Given the description of an element on the screen output the (x, y) to click on. 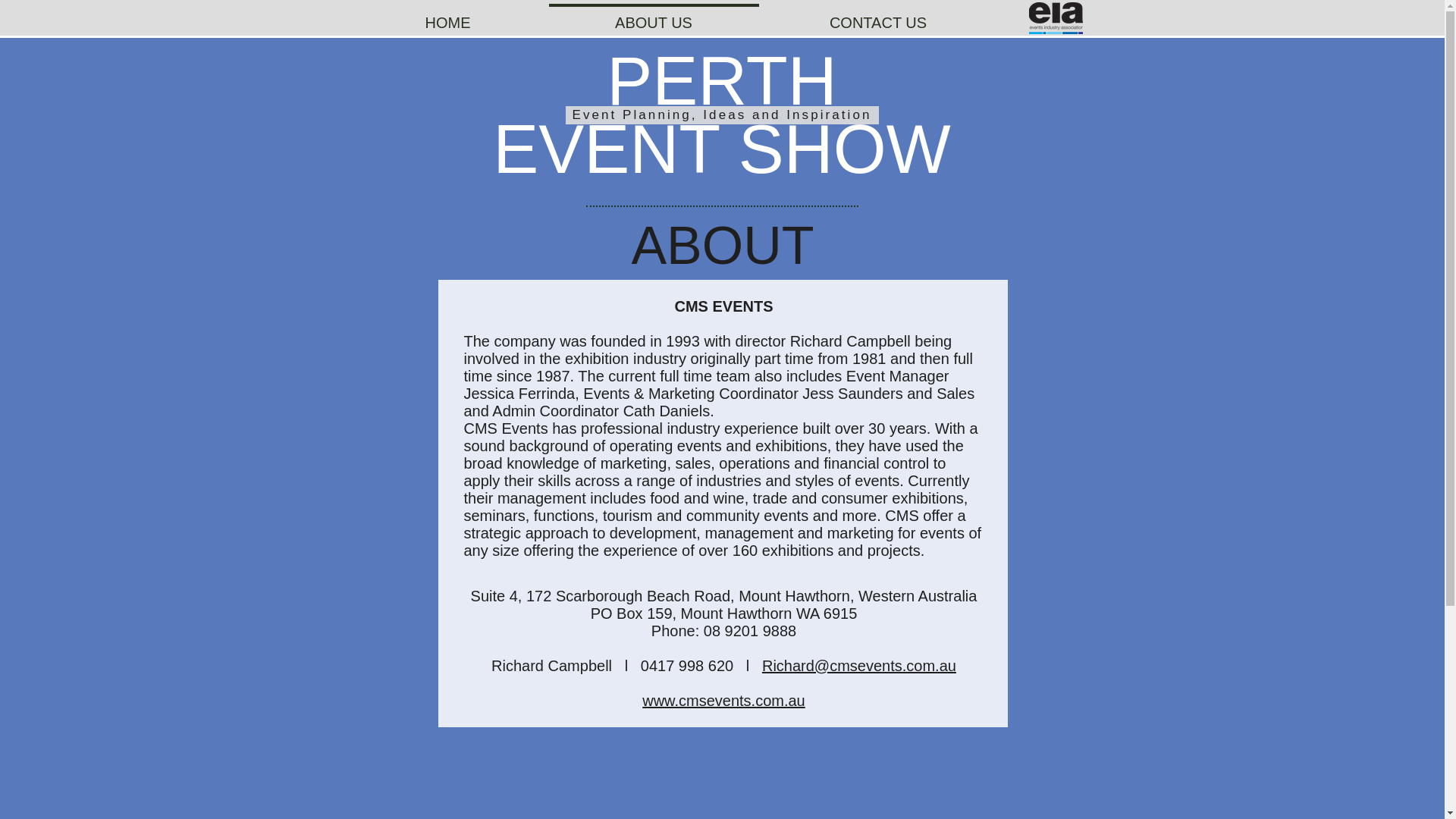
www.cmsevents.com.au (723, 700)
CONTACT US (878, 16)
ABOUT US (652, 16)
HOME (447, 16)
